Given the description of an element on the screen output the (x, y) to click on. 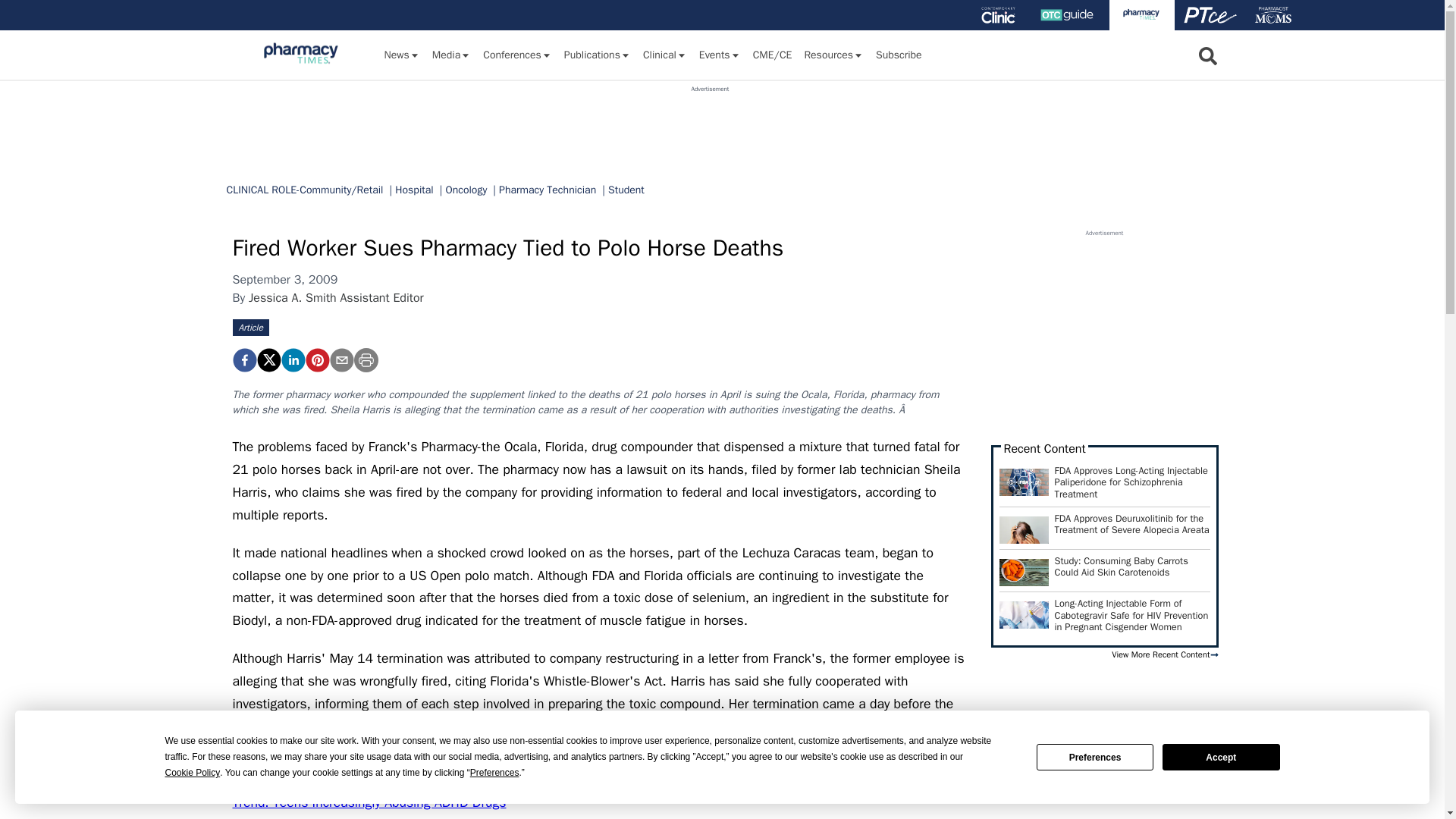
Fired Worker Sues Pharmacy Tied to Polo Horse Deaths (316, 360)
Preferences (494, 772)
Cookie Policy (193, 772)
Fired Worker Sues Pharmacy Tied to Polo Horse Deaths (243, 360)
Preferences (1094, 756)
3rd party ad content (709, 127)
Accept (1220, 756)
